Given the description of an element on the screen output the (x, y) to click on. 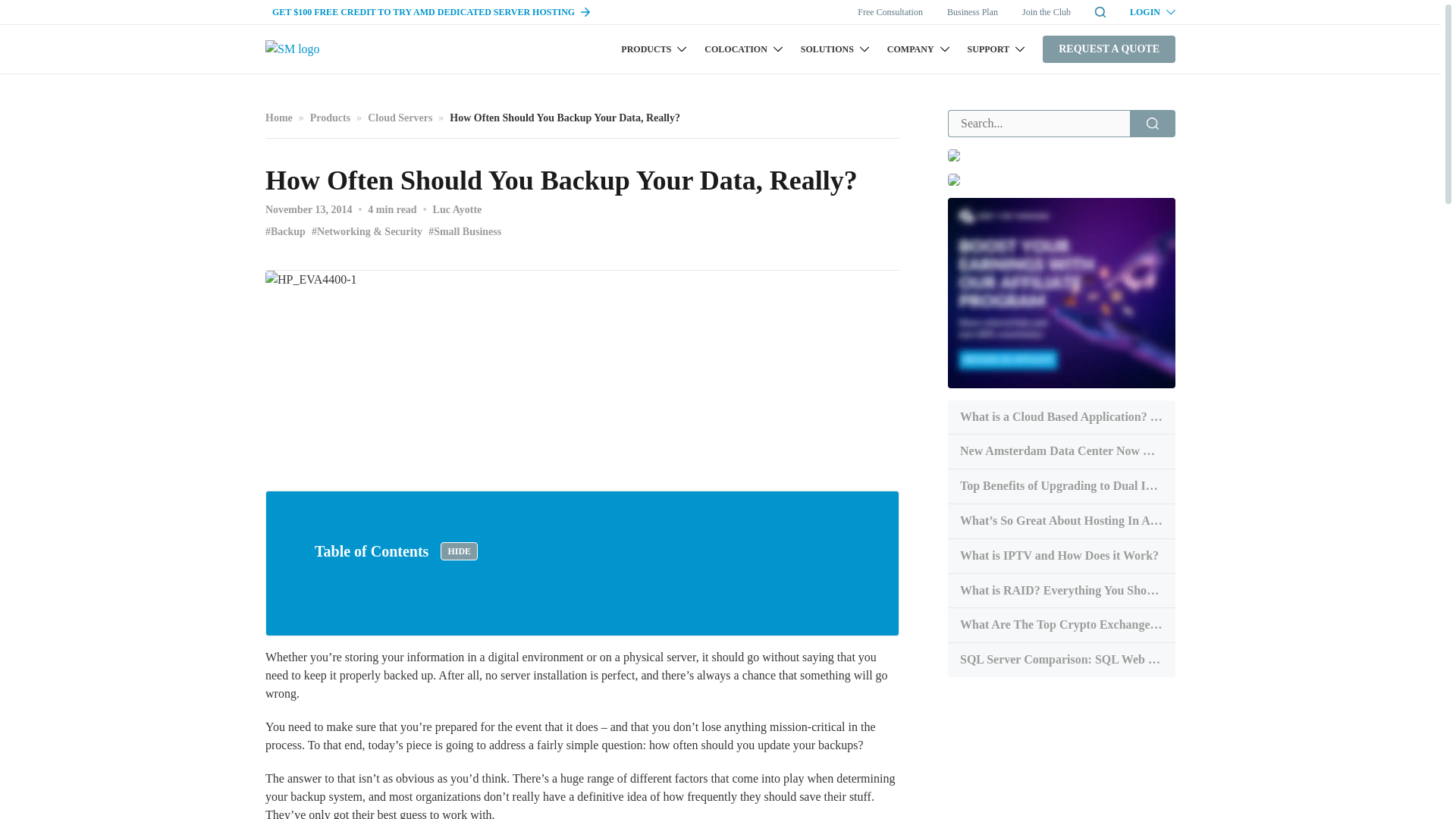
Business Plan (972, 11)
Join the Club (1046, 11)
Free Consultation (890, 11)
